Given the description of an element on the screen output the (x, y) to click on. 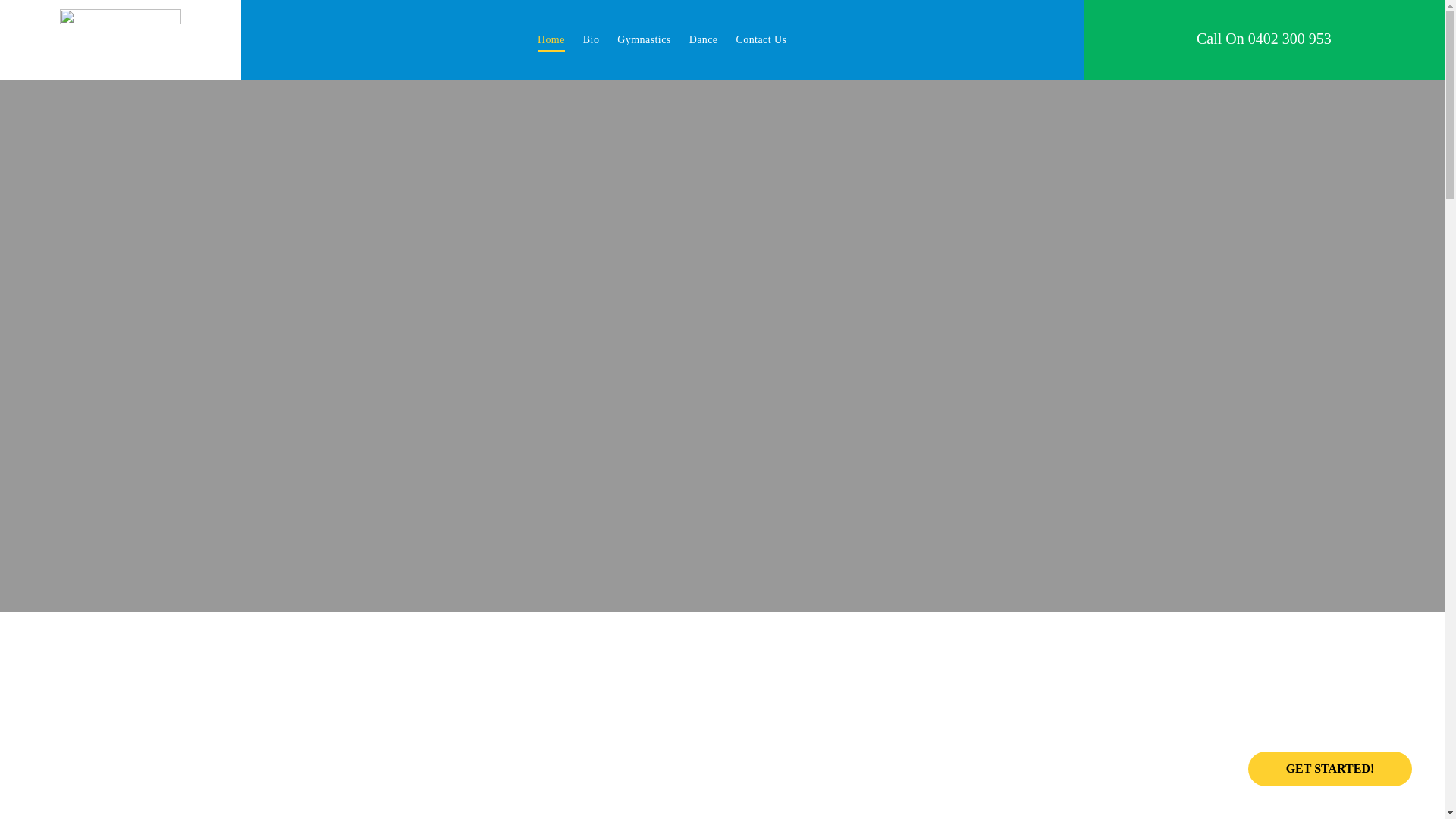
Home Element type: text (551, 39)
0402 300 953 Element type: text (1289, 38)
Bio Element type: text (591, 39)
Gymnastics Element type: text (643, 39)
Contact Us Element type: text (760, 39)
Dance Element type: text (703, 39)
GET STARTED! Element type: text (1329, 768)
